Given the description of an element on the screen output the (x, y) to click on. 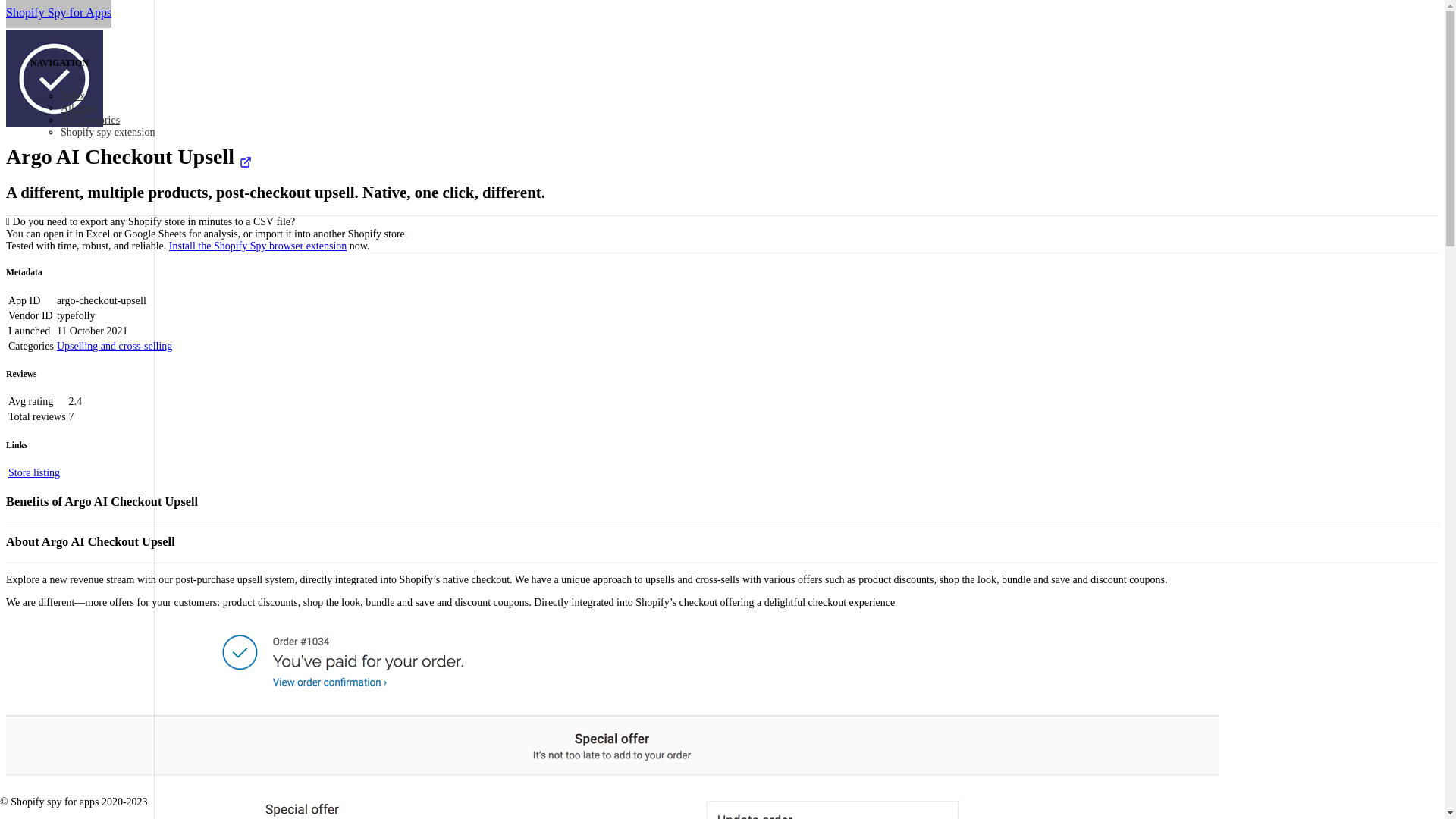
Index (72, 95)
Store listing (33, 472)
All apps (78, 107)
Shopify spy extension (107, 132)
All categories (90, 120)
Upselling and cross-selling (113, 346)
Install the Shopify Spy browser extension (257, 245)
Shopify Spy for Apps (58, 13)
